Given the description of an element on the screen output the (x, y) to click on. 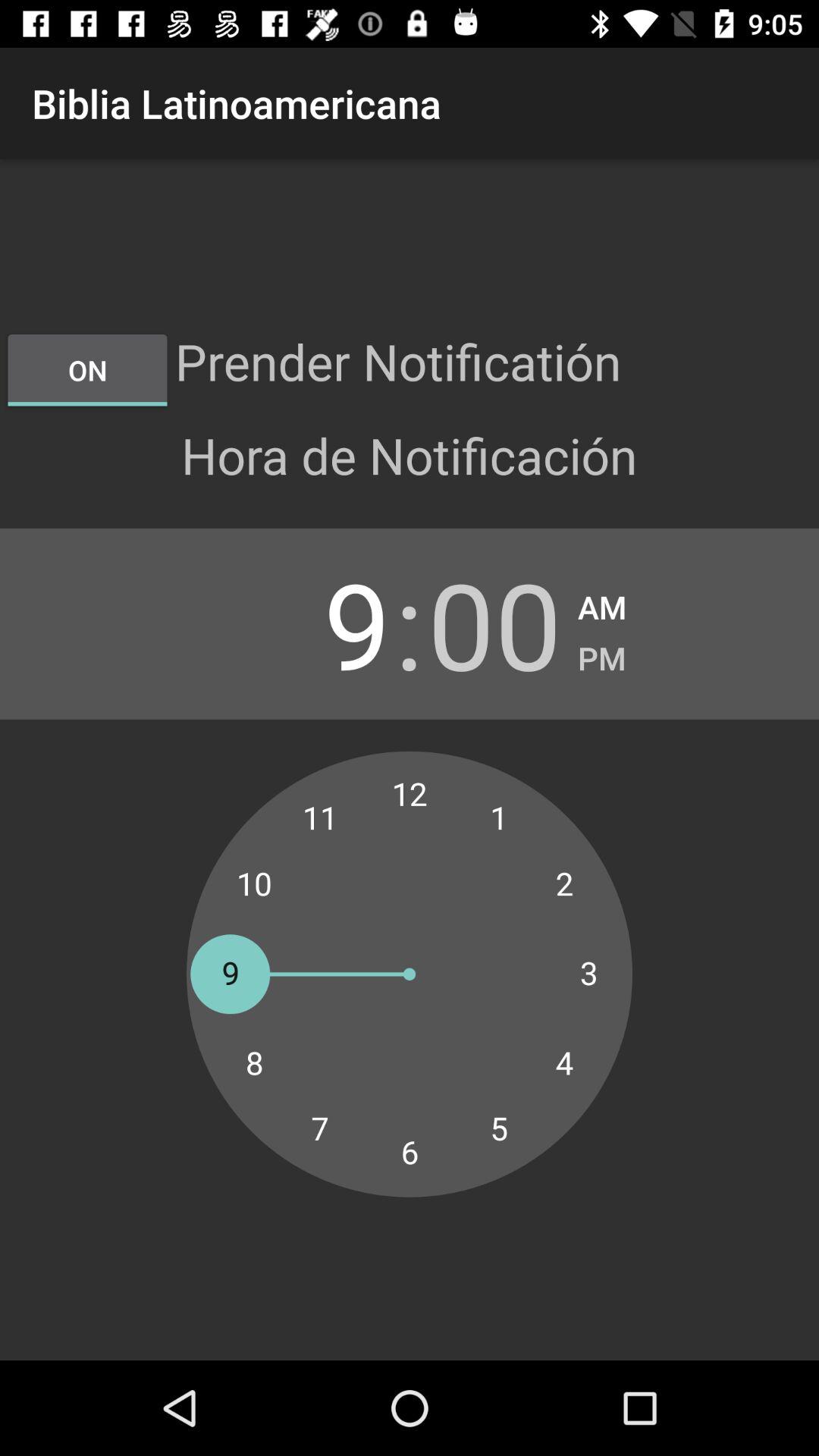
swipe until 9 icon (323, 623)
